Given the description of an element on the screen output the (x, y) to click on. 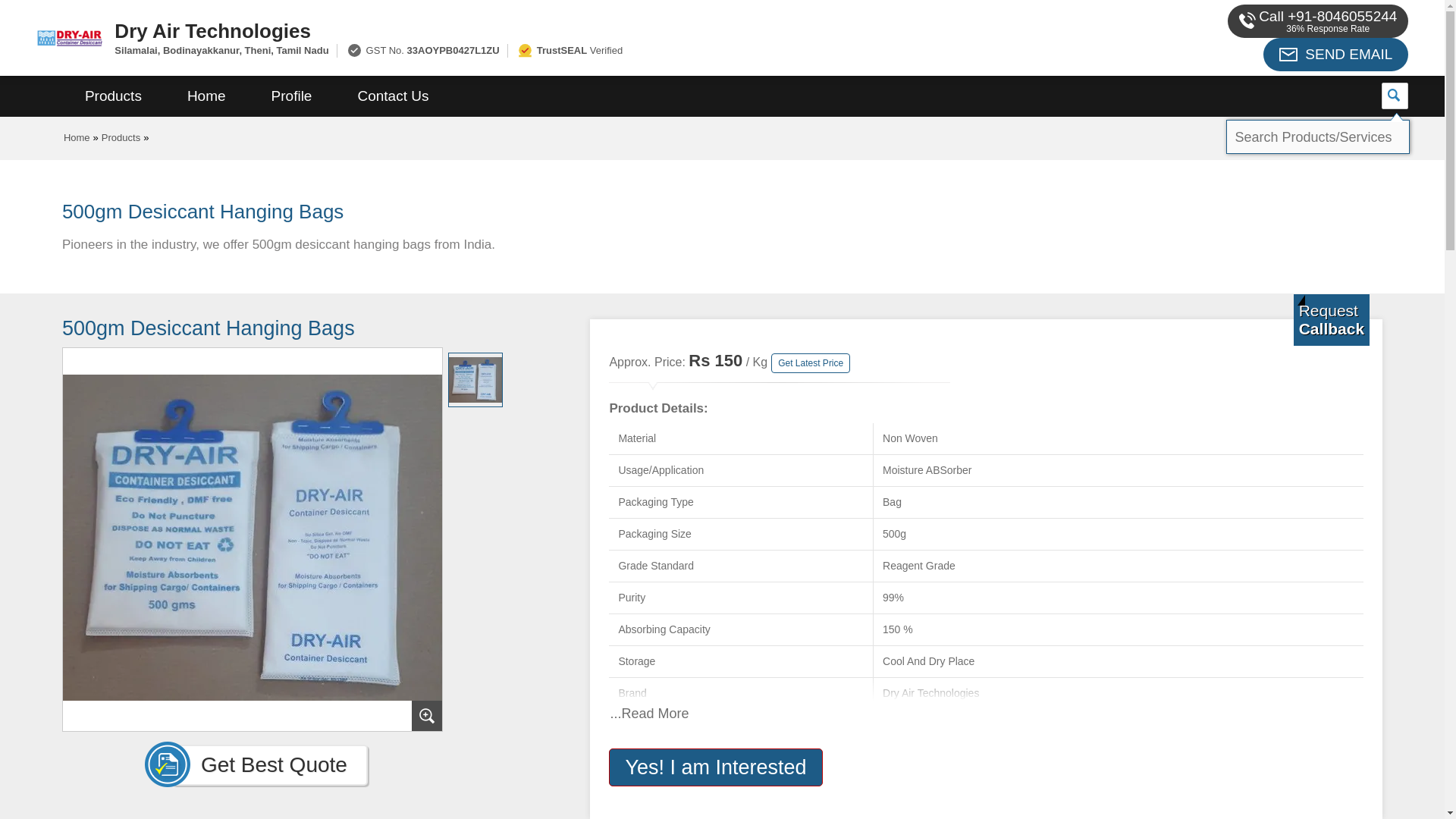
Contact Us (392, 96)
Products (120, 137)
Home (77, 137)
Home (206, 96)
Profile (291, 96)
Products (113, 96)
Dry Air Technologies (552, 31)
Get a Call from us (1332, 319)
